Given the description of an element on the screen output the (x, y) to click on. 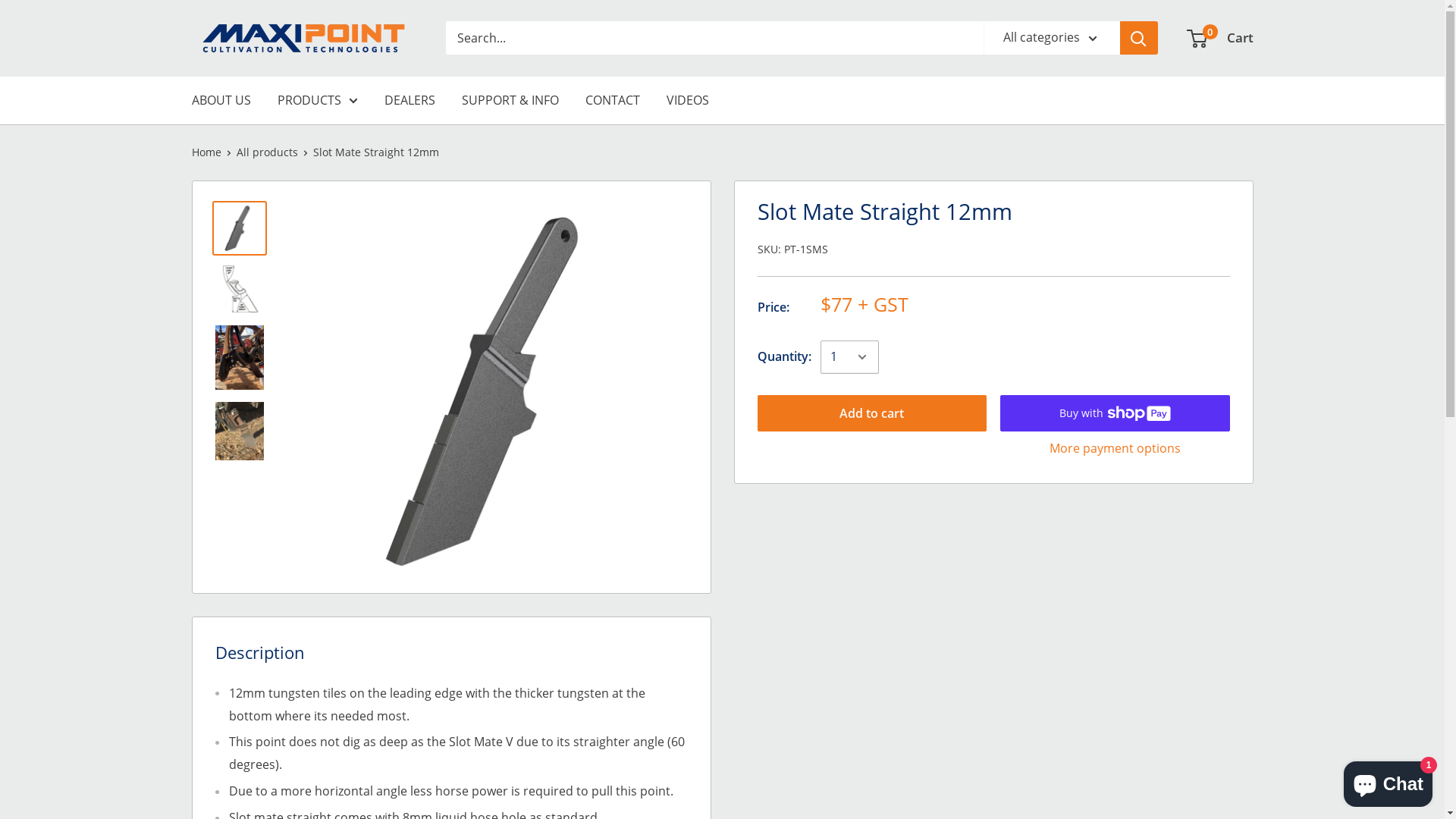
VIDEOS Element type: text (686, 100)
Shopify online store chat Element type: hover (1388, 780)
0
Cart Element type: text (1219, 37)
DEALERS Element type: text (408, 100)
SUPPORT & INFO Element type: text (509, 100)
Home Element type: text (205, 151)
PRODUCTS Element type: text (317, 100)
All products Element type: text (267, 151)
CONTACT Element type: text (612, 100)
ABOUT US Element type: text (220, 100)
Add to cart Element type: text (871, 413)
More payment options Element type: text (1115, 448)
